Given the description of an element on the screen output the (x, y) to click on. 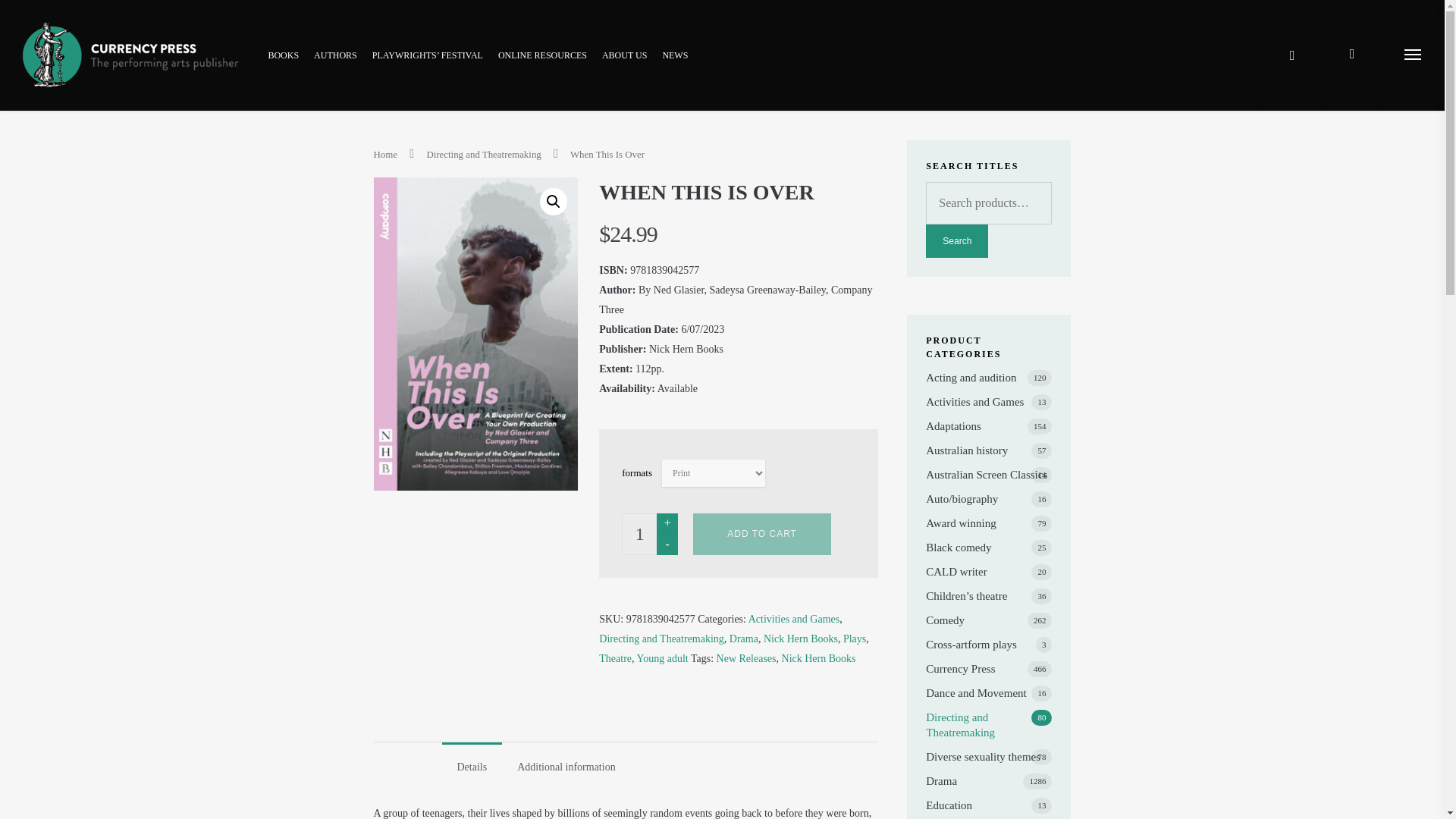
ONLINE RESOURCES (541, 65)
- (667, 544)
